Given the description of an element on the screen output the (x, y) to click on. 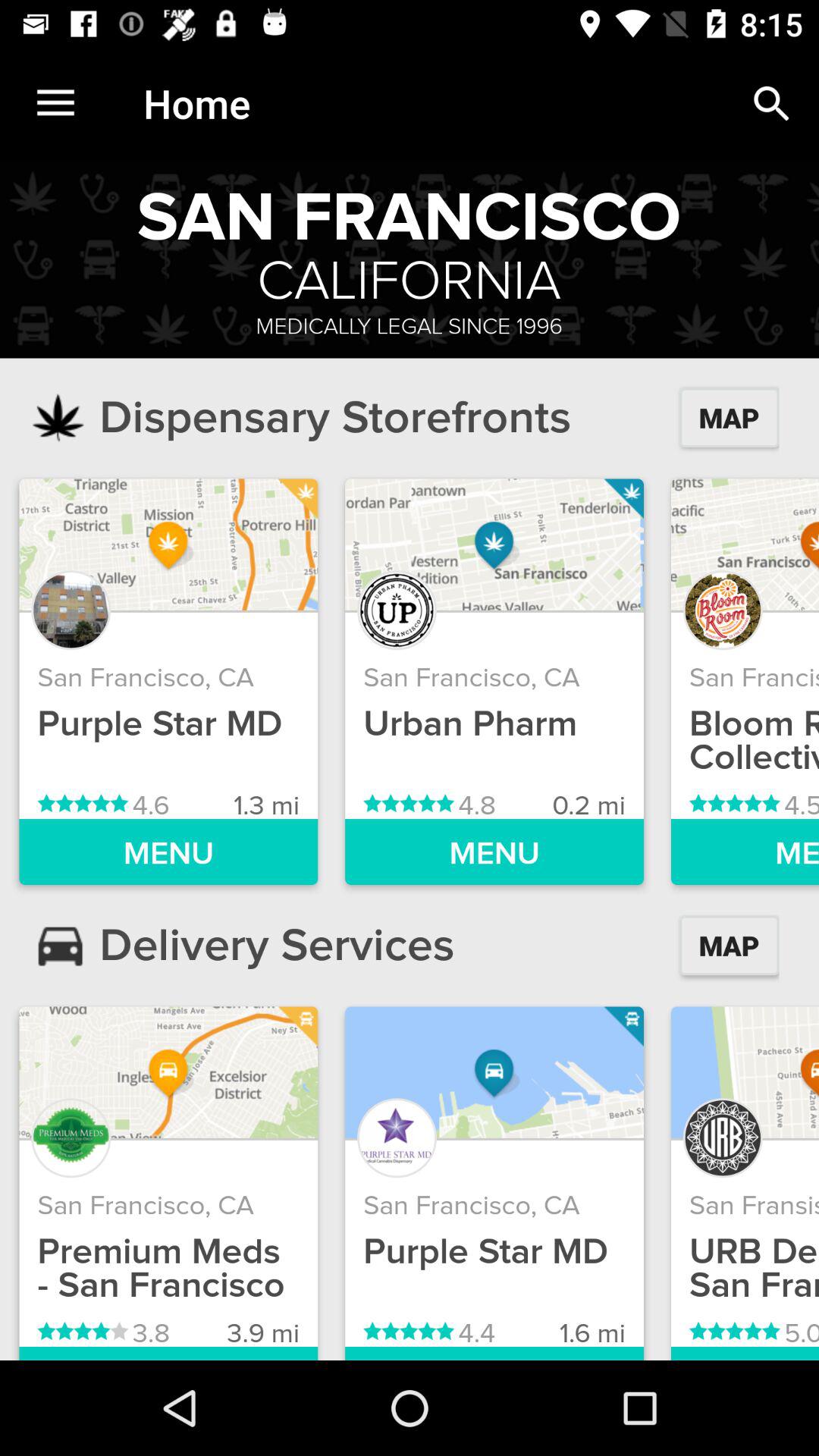
press item to the right of the home (771, 103)
